Given the description of an element on the screen output the (x, y) to click on. 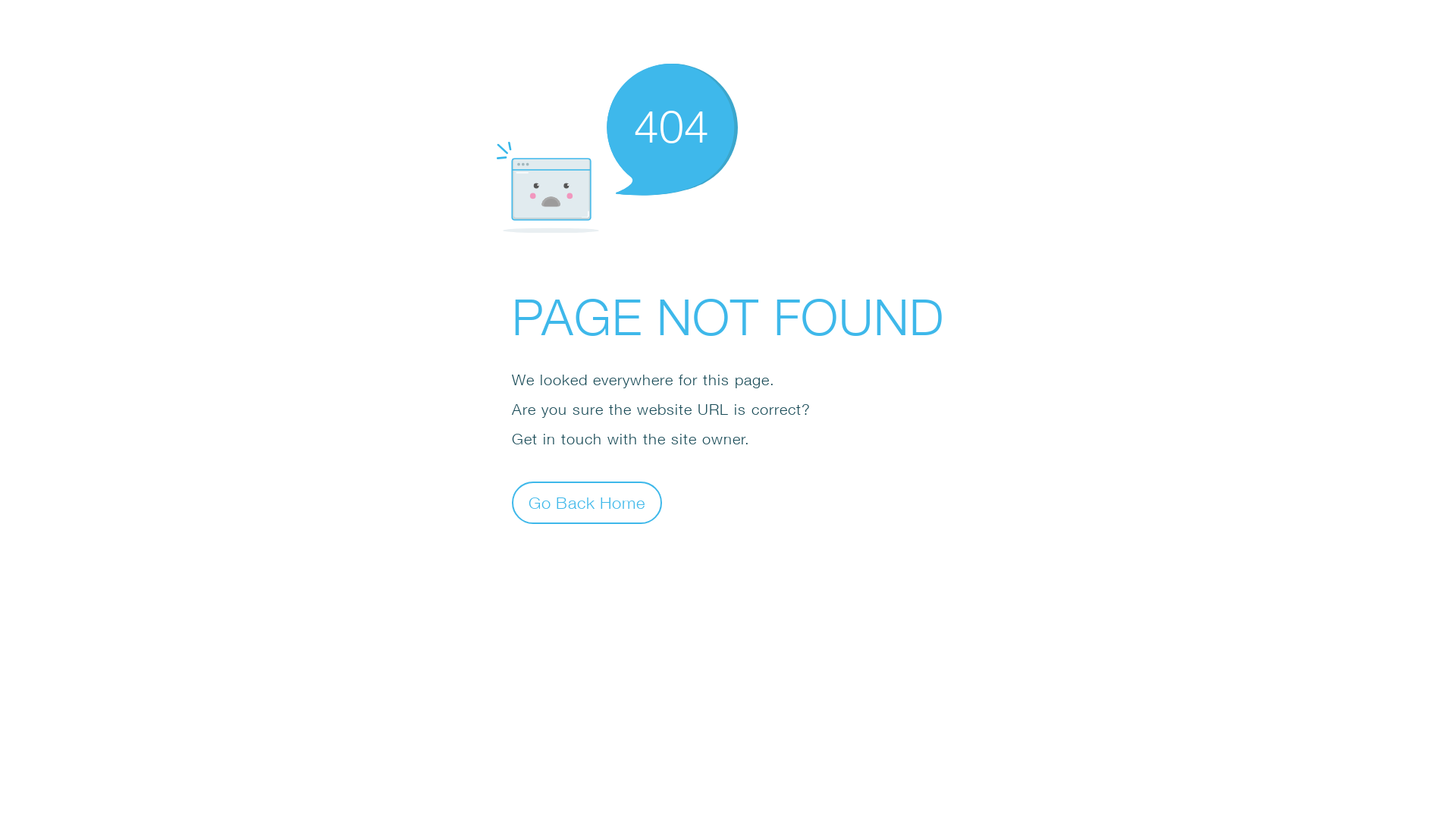
Go Back Home Element type: text (586, 502)
